Given the description of an element on the screen output the (x, y) to click on. 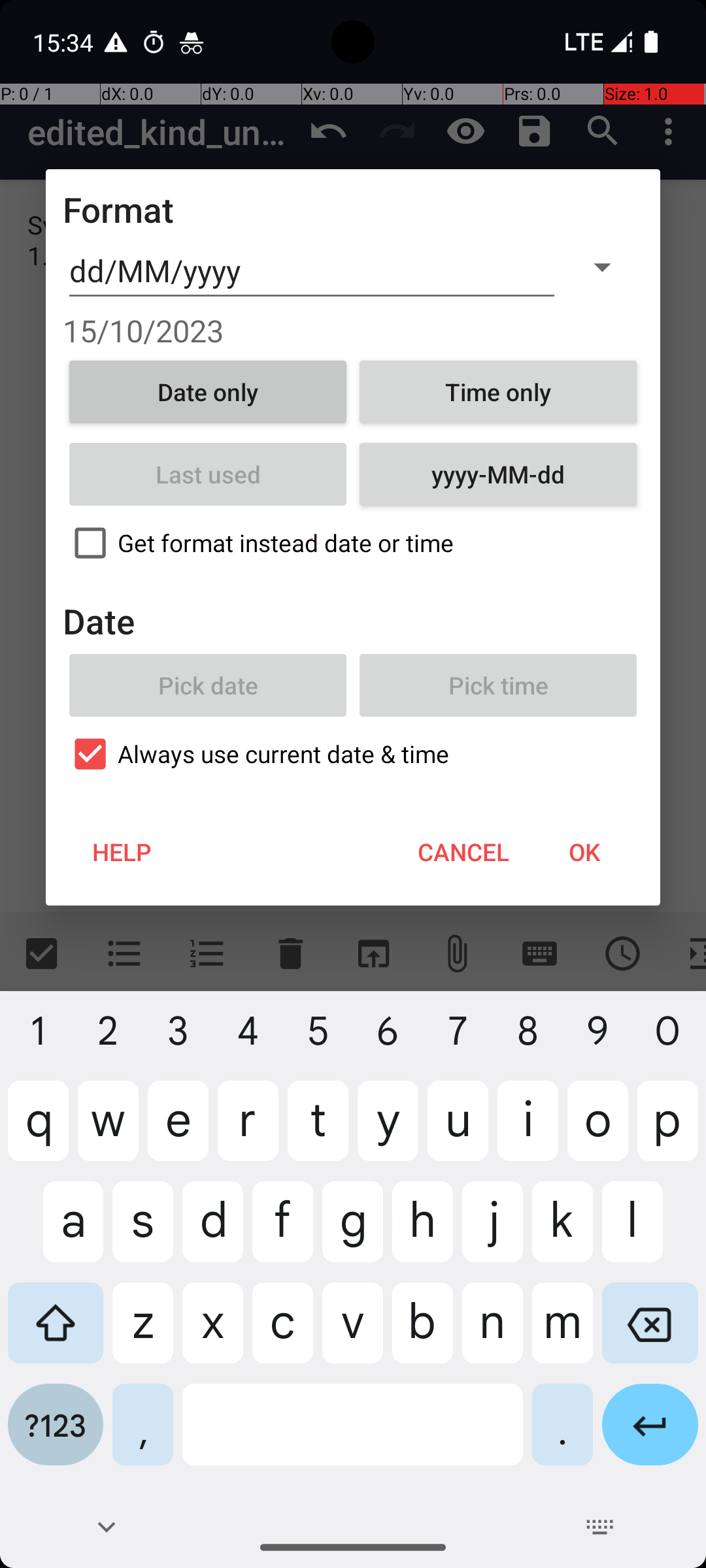
dd/MM/yyyy Element type: android.widget.EditText (311, 270)
15/10/2023 Element type: android.widget.TextView (352, 329)
Date only Element type: android.widget.Button (207, 391)
Time only Element type: android.widget.Button (498, 391)
Last used Element type: android.widget.Button (207, 474)
yyyy-MM-dd Element type: android.widget.Button (498, 474)
Get format instead date or time Element type: android.widget.CheckBox (352, 542)
Pick date Element type: android.widget.Button (207, 685)
Pick time Element type: android.widget.Button (498, 685)
Always use current date & time Element type: android.widget.CheckBox (352, 753)
HELP Element type: android.widget.Button (121, 851)
Chrome notification: Incognito Tabs Element type: android.widget.ImageView (191, 41)
